Given the description of an element on the screen output the (x, y) to click on. 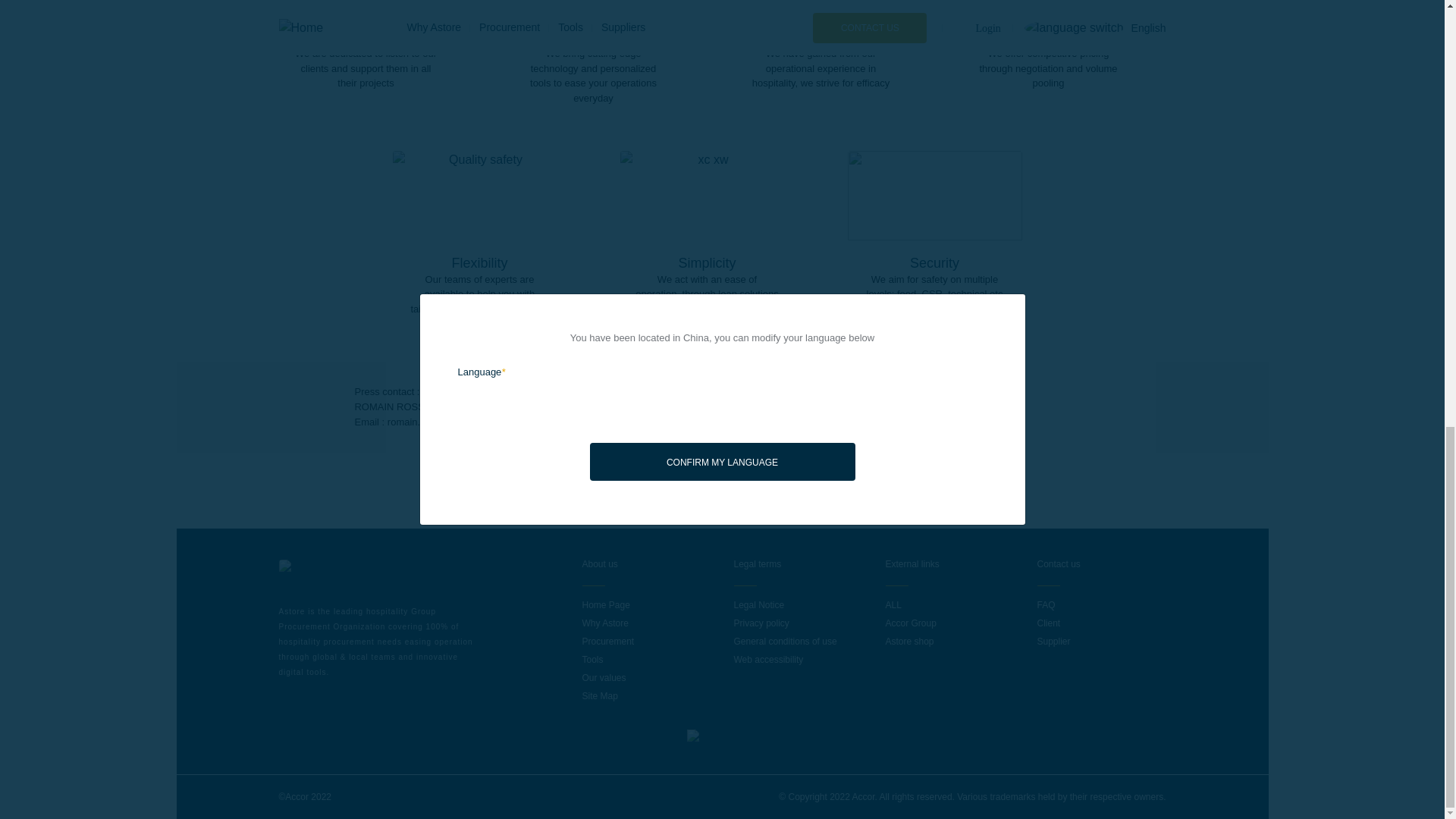
Astore shop (909, 641)
Why Astore (605, 623)
Site Map (599, 696)
FAQ (1045, 604)
Procurement (608, 641)
Web accessibility (768, 659)
Home Page (606, 604)
Supplier (1053, 641)
Home Page (606, 604)
Our values (604, 677)
